Given the description of an element on the screen output the (x, y) to click on. 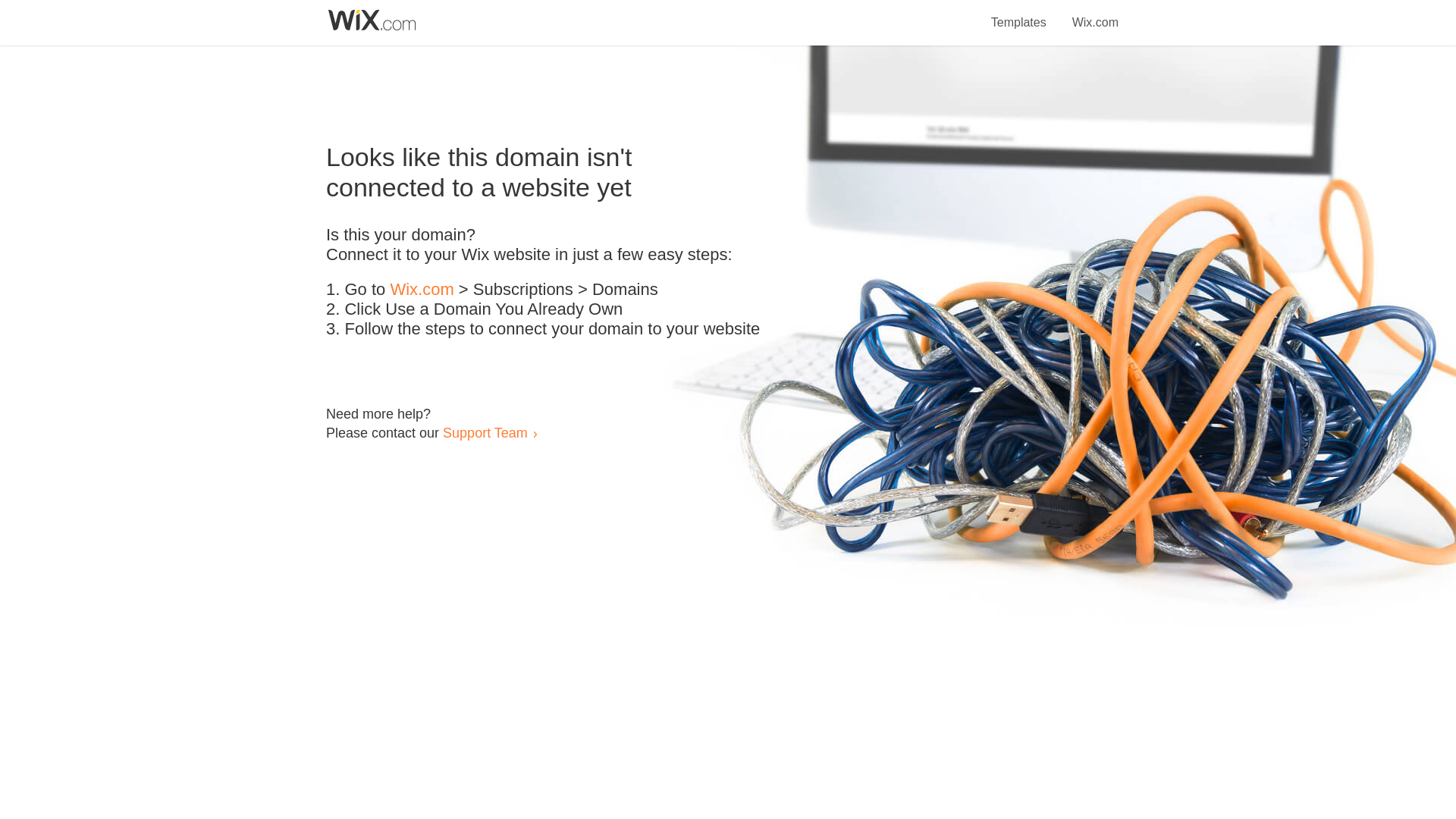
Wix.com (1095, 14)
Templates (1018, 14)
Support Team (484, 432)
Wix.com (421, 289)
